Given the description of an element on the screen output the (x, y) to click on. 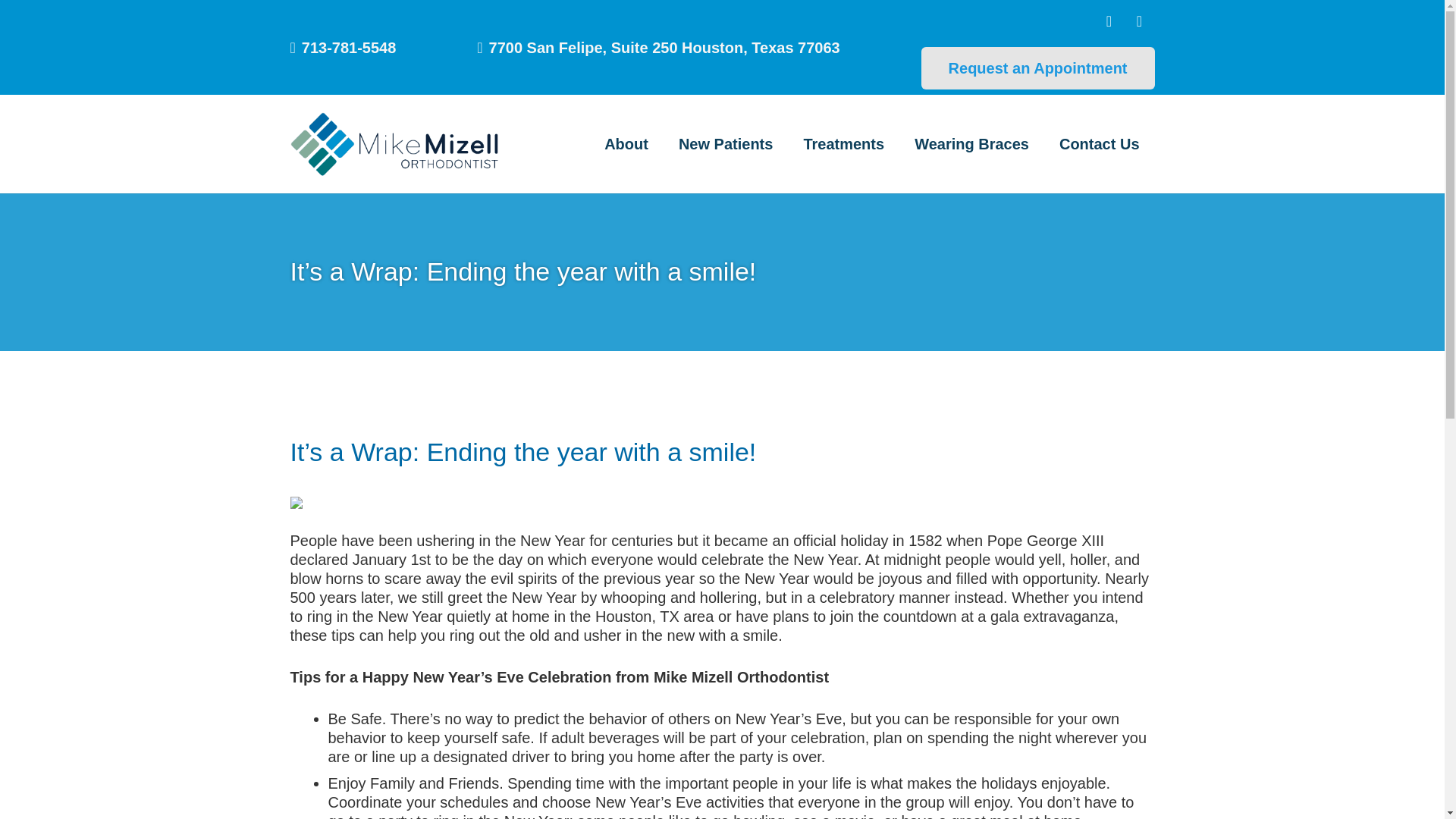
Treatments (843, 143)
Request an Appointment (1037, 67)
Twitter (1139, 20)
Wearing Braces (971, 143)
7700 San Felipe, Suite 250 Houston, Texas 77063 (658, 47)
713-781-5548 (342, 47)
Facebook (1109, 20)
About (626, 143)
New Patients (725, 143)
Contact Us (1098, 143)
